Given the description of an element on the screen output the (x, y) to click on. 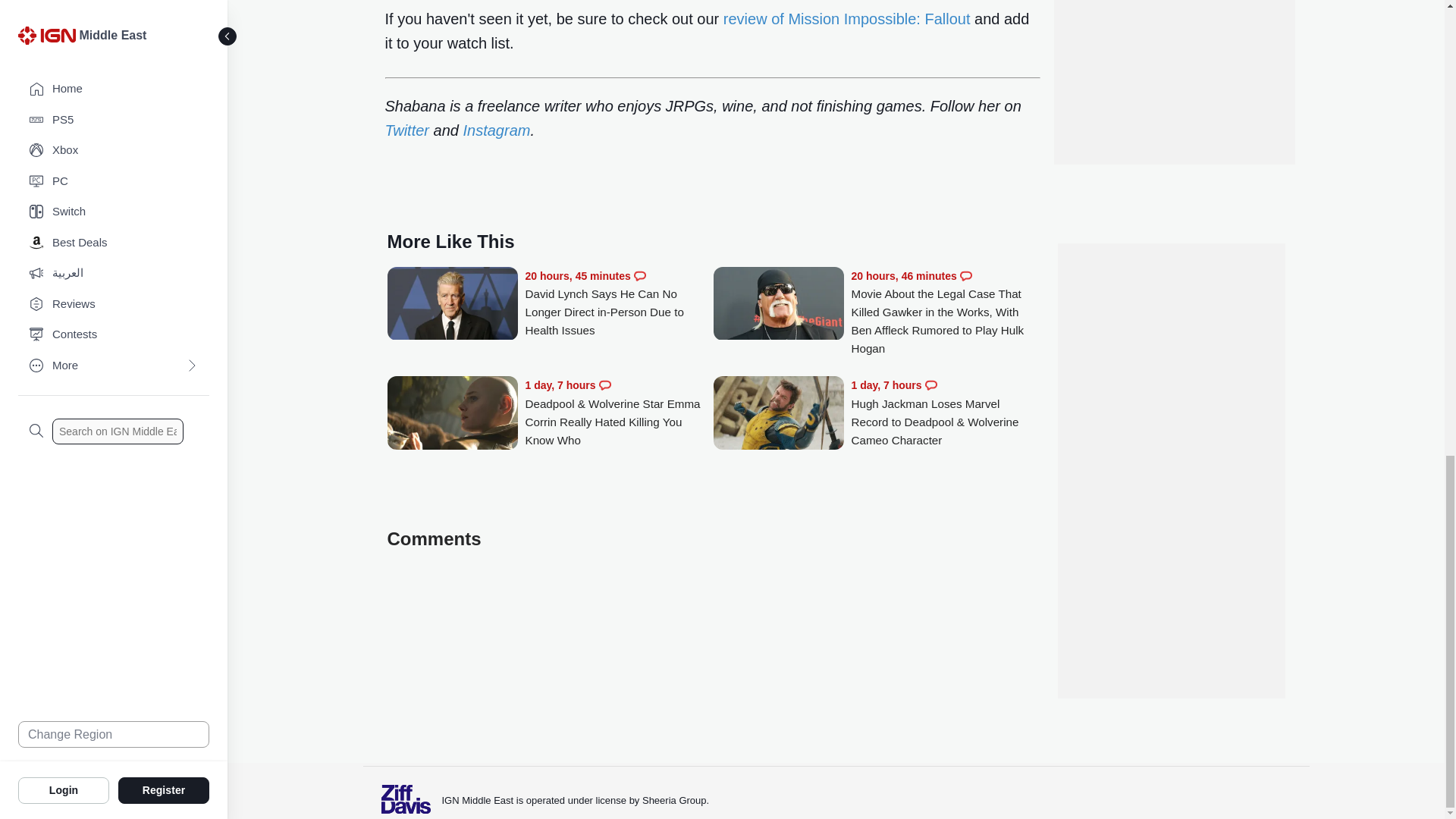
Comments (639, 275)
Comments (930, 385)
Comments (965, 275)
Comments (604, 385)
Instagram (496, 130)
